Given the description of an element on the screen output the (x, y) to click on. 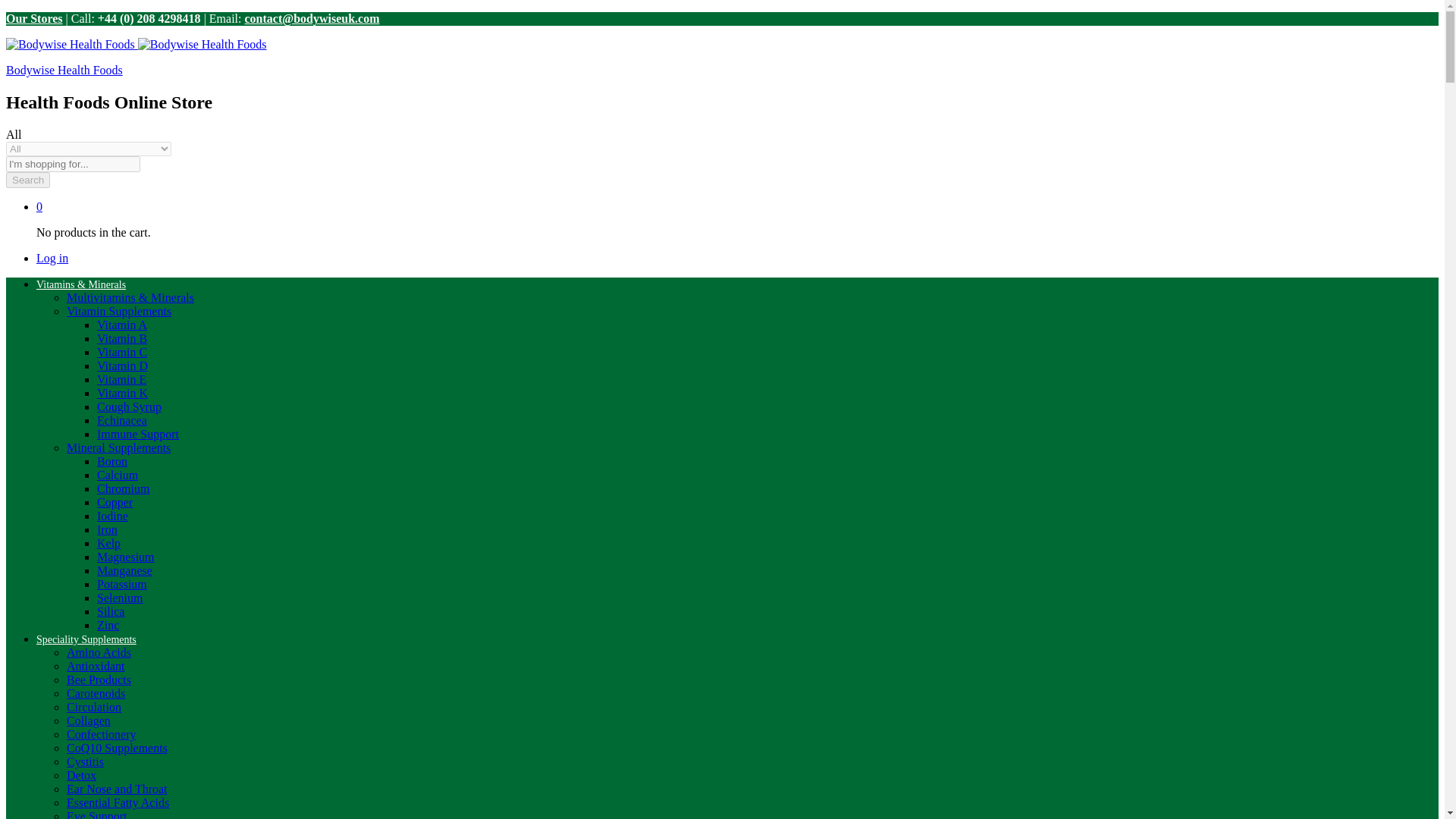
1 (721, 518)
SPECIALITY SUPPLEMENTS (345, 137)
Compare (1147, 513)
Instagram (1345, 18)
Add to wishlist (1106, 513)
Facebook (1307, 18)
Log in (1316, 74)
Our Stores (124, 22)
Twitter (1326, 18)
Qty (721, 518)
Search (1161, 80)
